Given the description of an element on the screen output the (x, y) to click on. 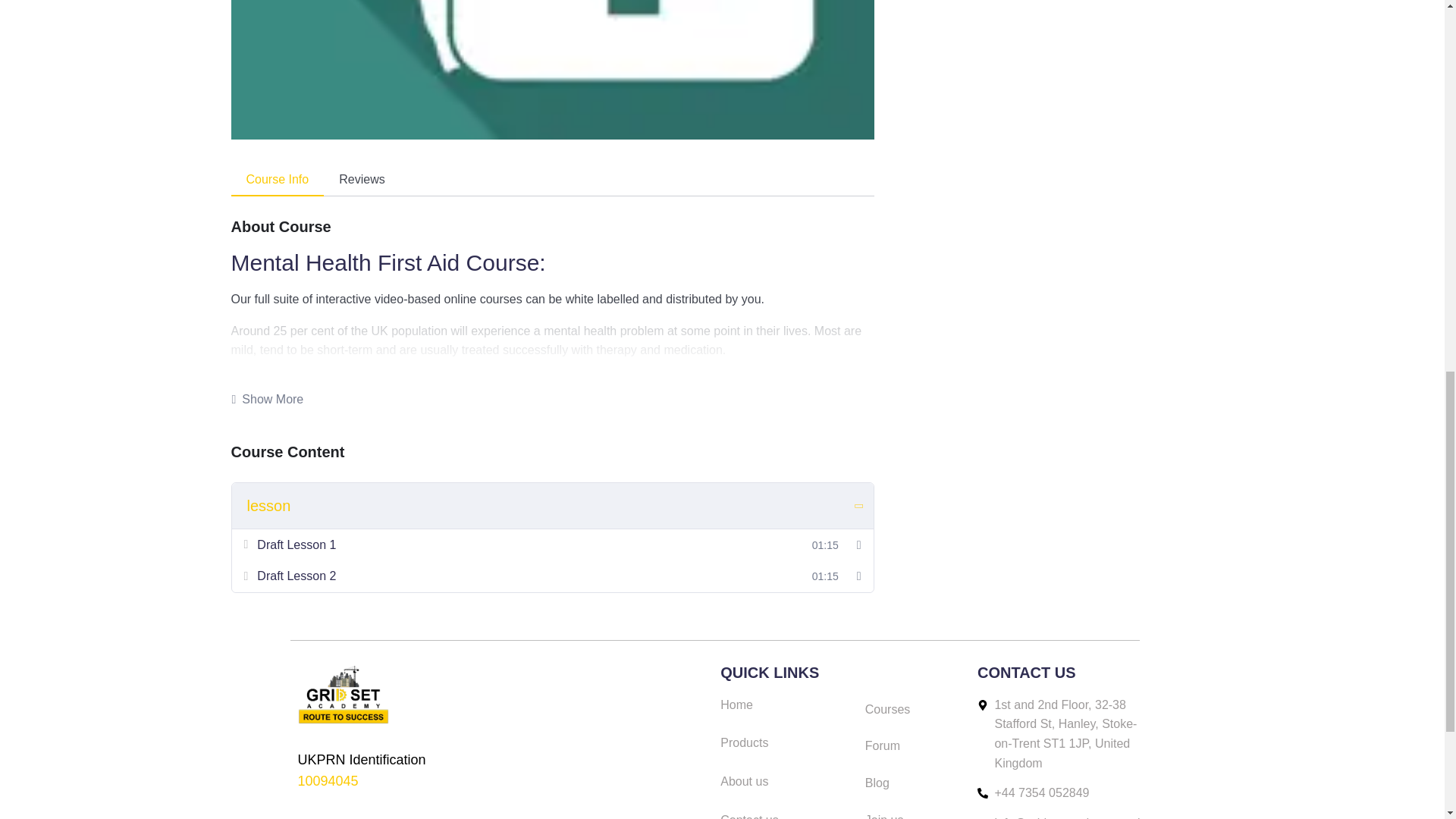
Course Info (276, 180)
About us (785, 781)
Reviews (360, 180)
Show More (267, 399)
Products (785, 742)
Contact us (785, 814)
Home (785, 704)
